Given the description of an element on the screen output the (x, y) to click on. 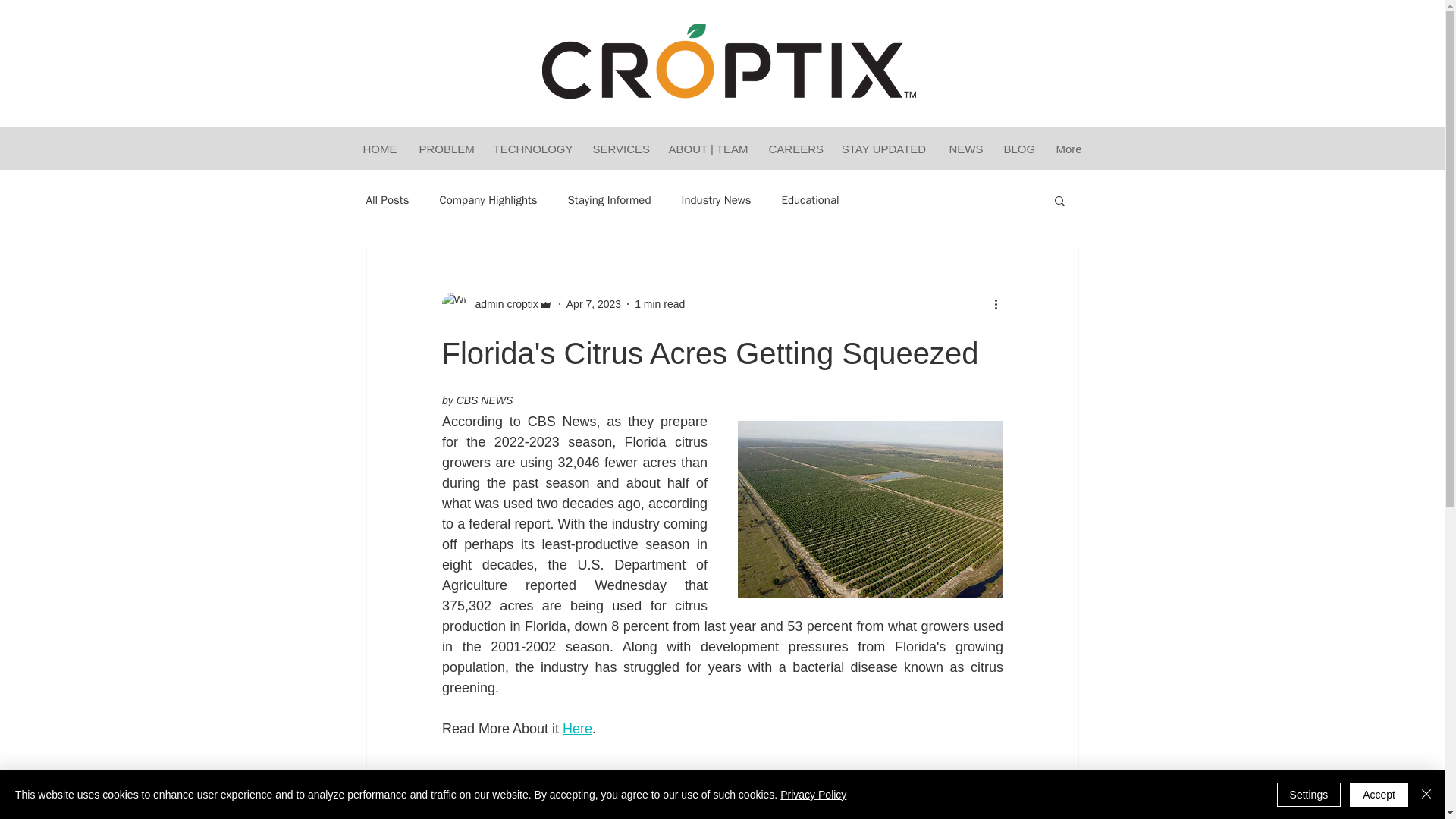
BLOG (1017, 148)
admin croptix (501, 303)
STAY UPDATED (883, 148)
TECHNOLOGY (530, 148)
PROBLEM (444, 148)
Staying Informed (608, 199)
Industry News (716, 199)
Company Highlights (488, 199)
SERVICES (618, 148)
Apr 7, 2023 (593, 303)
All Posts (387, 199)
HOME (379, 148)
NEWS (964, 148)
Here (577, 728)
Industry News (969, 800)
